Given the description of an element on the screen output the (x, y) to click on. 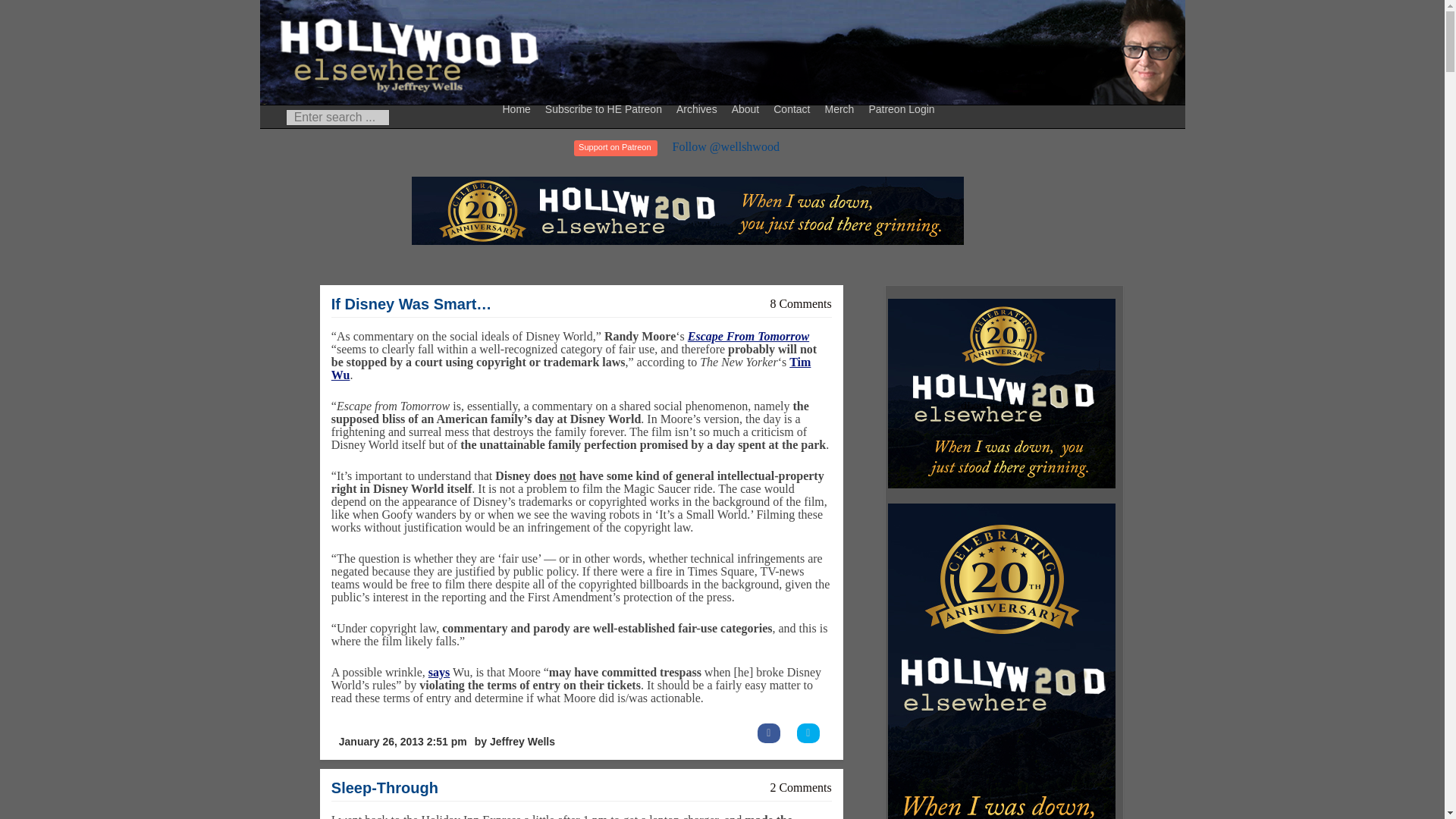
About (747, 108)
January 26, 2013 2:51 pm (402, 741)
Tim Wu (570, 368)
Permanent Link to Sleep-Through (384, 787)
Home (519, 108)
Escape From Tomorrow (748, 336)
Sleep-Through (384, 787)
8 Comments (800, 303)
Archives (698, 108)
Subscribe to HE Patreon (605, 108)
Merch (841, 108)
says (438, 671)
by Jeffrey Wells (514, 741)
Contact (793, 108)
2 Comments (800, 787)
